Given the description of an element on the screen output the (x, y) to click on. 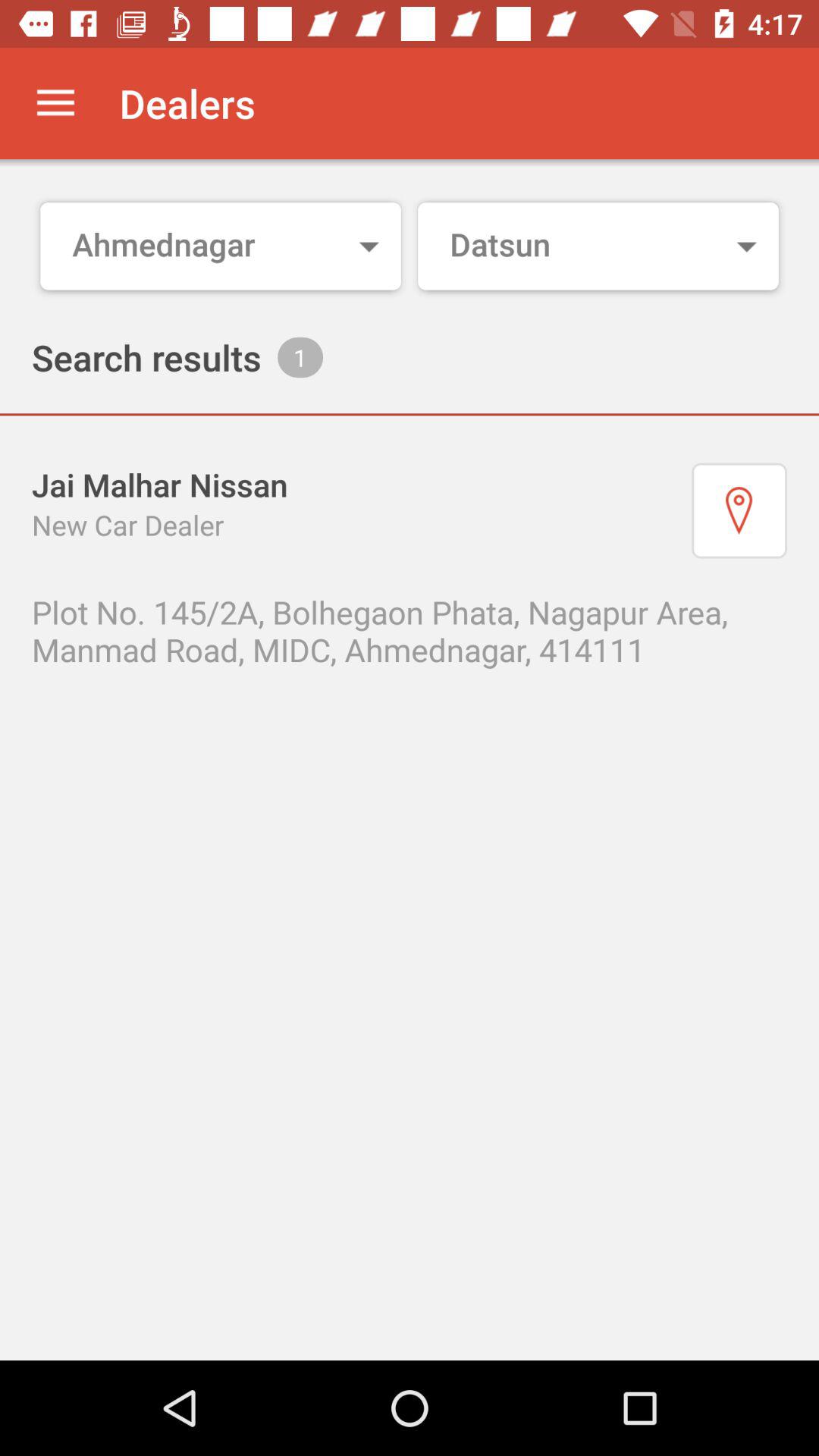
tap item above the plot no 145 (739, 510)
